Given the description of an element on the screen output the (x, y) to click on. 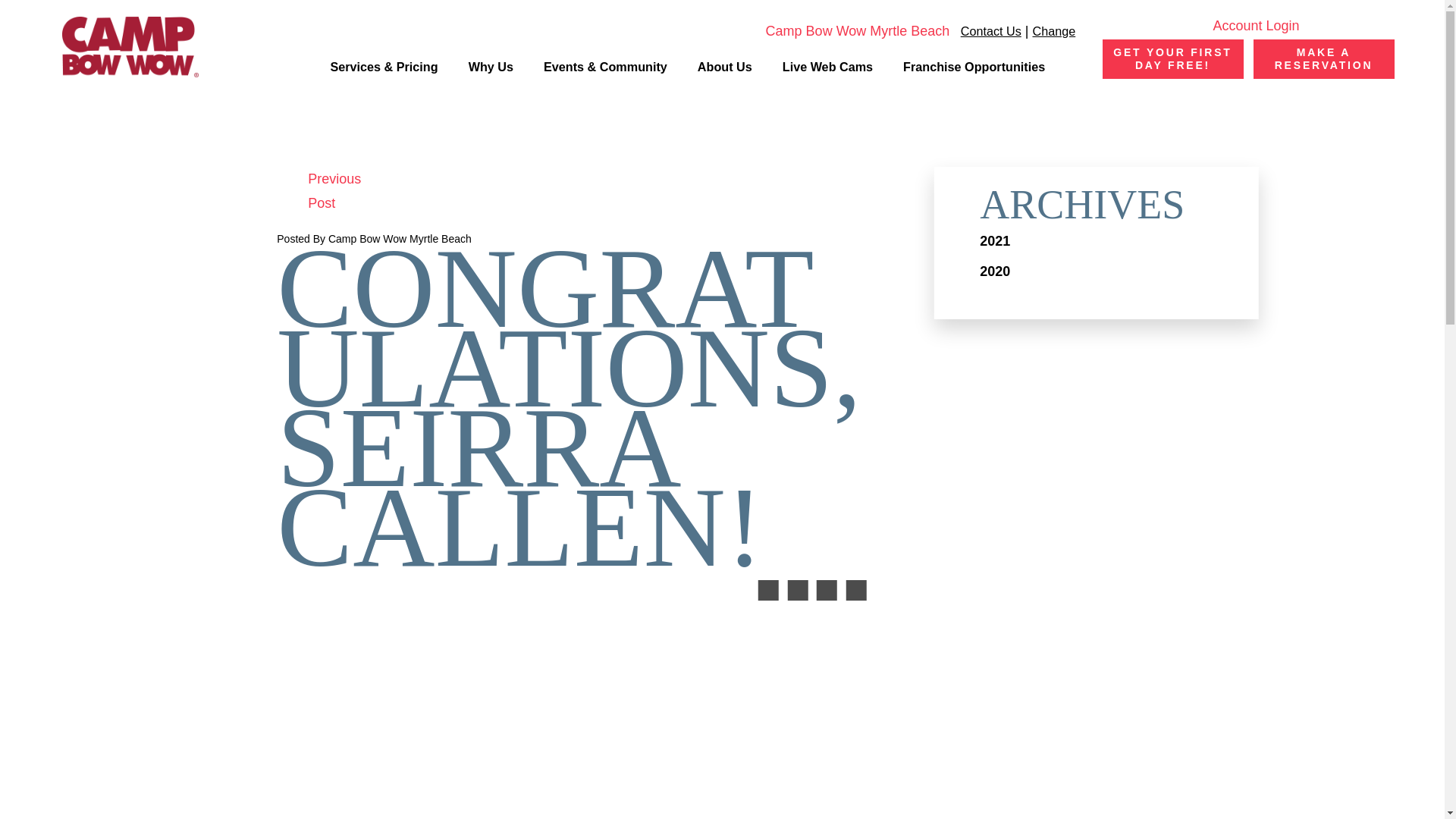
About Us (724, 69)
Live Web Cams (827, 69)
GET YOUR FIRST DAY FREE! (1172, 58)
Account Login (1247, 25)
Contact Us (991, 31)
Franchise Opportunities (973, 69)
Change (1053, 31)
Camp Bow Wow Myrtle Beach (846, 30)
Search Our Site (1066, 69)
MAKE A RESERVATION (1322, 58)
